Given the description of an element on the screen output the (x, y) to click on. 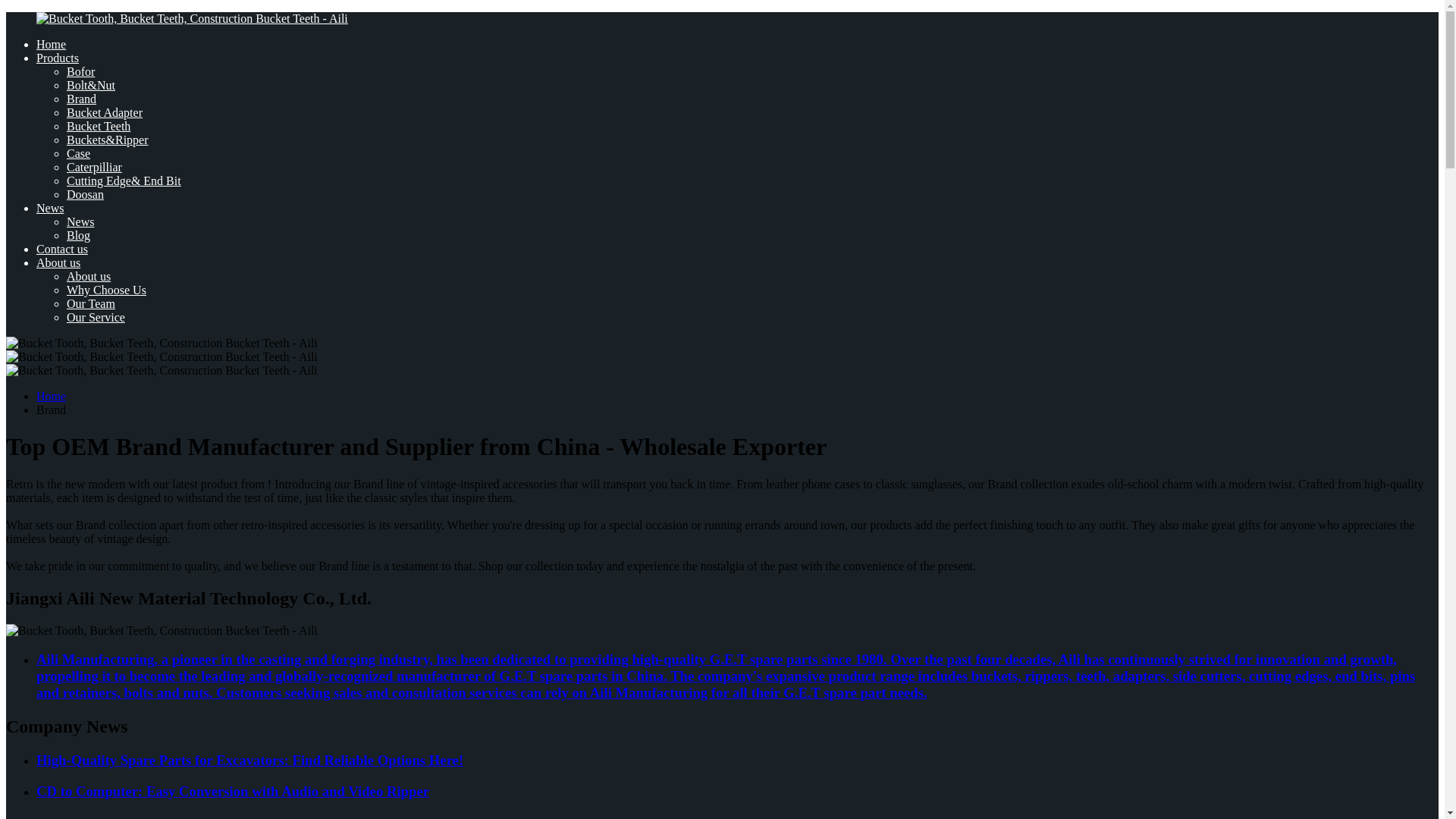
Home (50, 43)
Why Choose Us (106, 289)
Home (50, 395)
About us (88, 276)
Bucket Teeth (98, 125)
Our Service (95, 317)
Brand (81, 98)
Caterpilliar (94, 166)
News (80, 221)
Products (57, 57)
Case (78, 153)
Our Team (90, 303)
Blog (78, 235)
News (50, 207)
Bofor (80, 71)
